Given the description of an element on the screen output the (x, y) to click on. 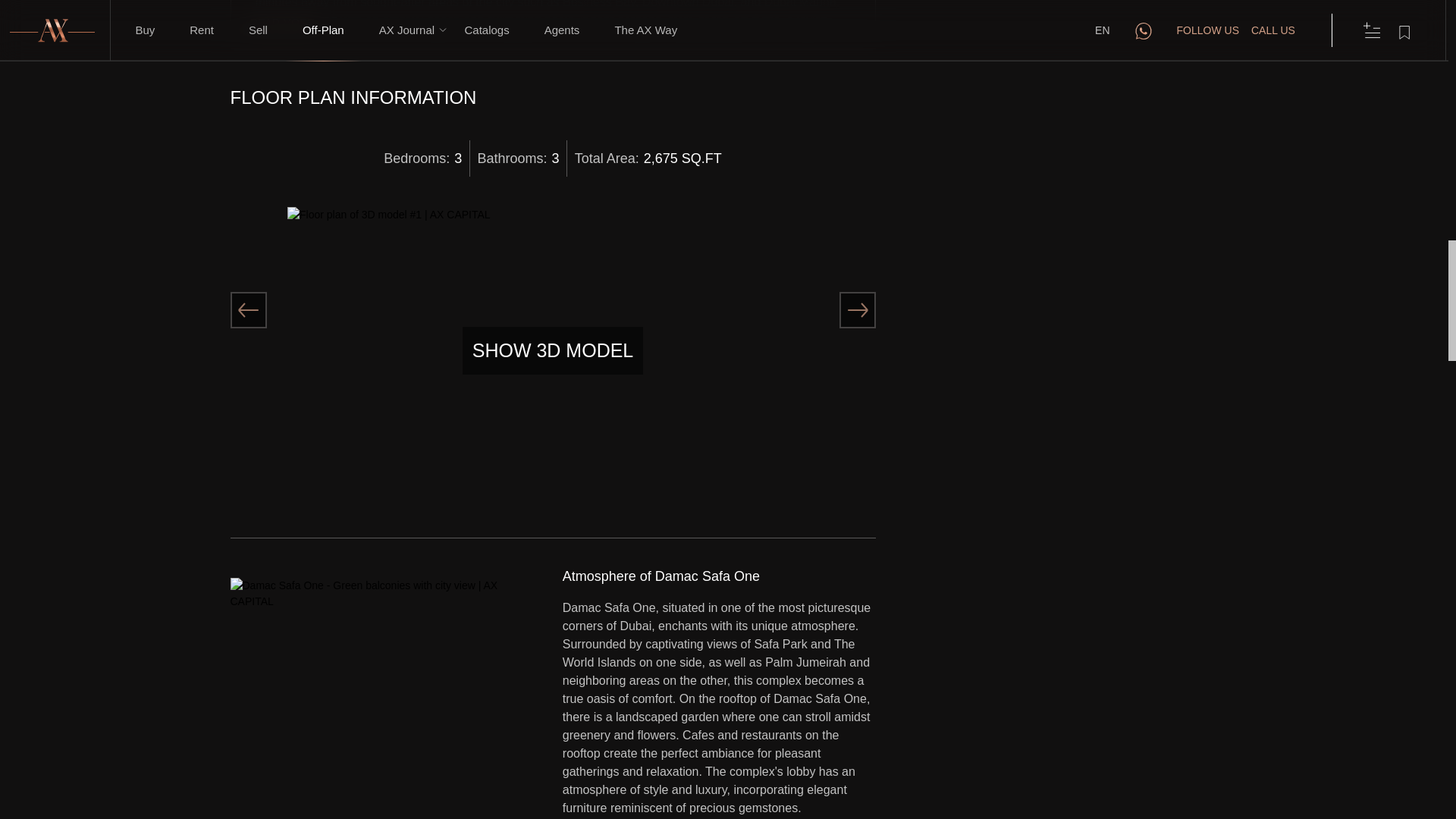
Business Bay (598, 4)
Dubai Marina (799, 4)
Downtown Dubai (687, 4)
